Given the description of an element on the screen output the (x, y) to click on. 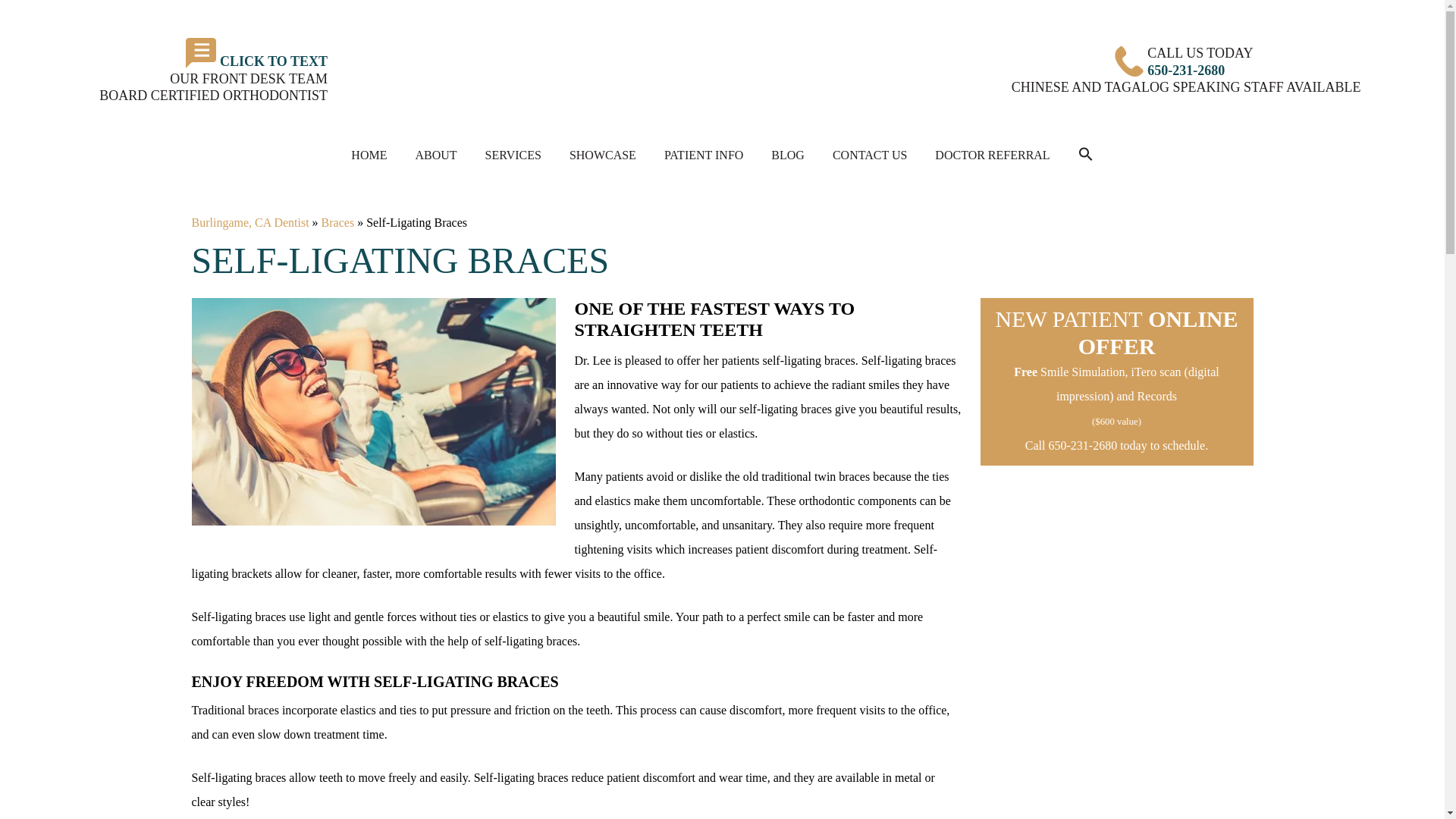
HOME (368, 155)
PATIENT INFO (703, 155)
SHOWCASE (602, 155)
Burlingame Smile Studio (669, 70)
SERVICES (513, 155)
ABOUT (435, 155)
